Given the description of an element on the screen output the (x, y) to click on. 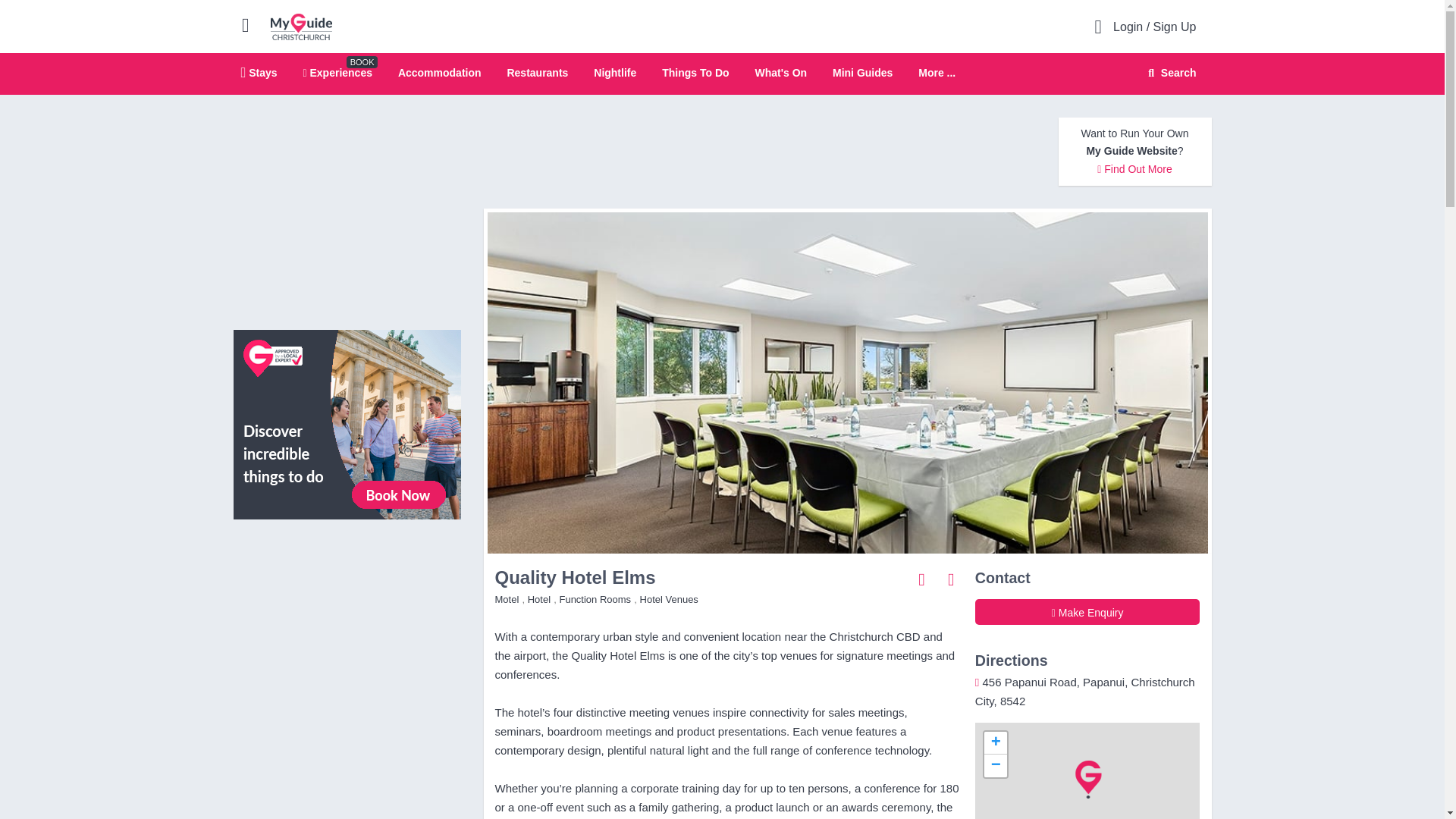
What's On (780, 72)
Add to My Guide (950, 579)
Search (1169, 72)
Things To Do (695, 72)
Mini Guides (862, 72)
Experiences (337, 72)
More ... (936, 72)
Nightlife (615, 72)
Stays (259, 72)
GetYourGuide Widget (346, 599)
Accommodation (439, 72)
My Guide Christchurch (300, 25)
Zoom in (995, 743)
